Given the description of an element on the screen output the (x, y) to click on. 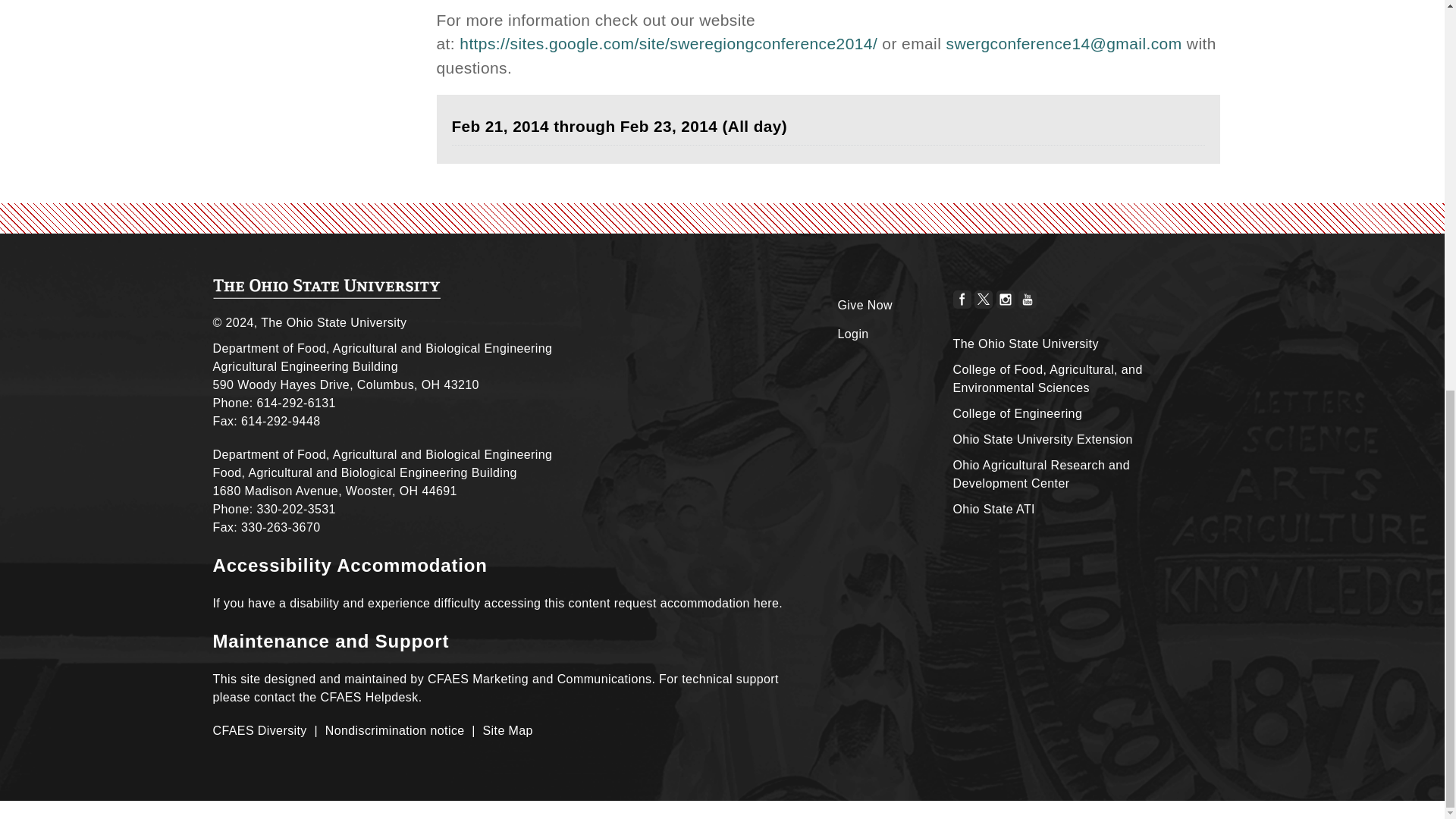
CFAES Home (325, 288)
